Given the description of an element on the screen output the (x, y) to click on. 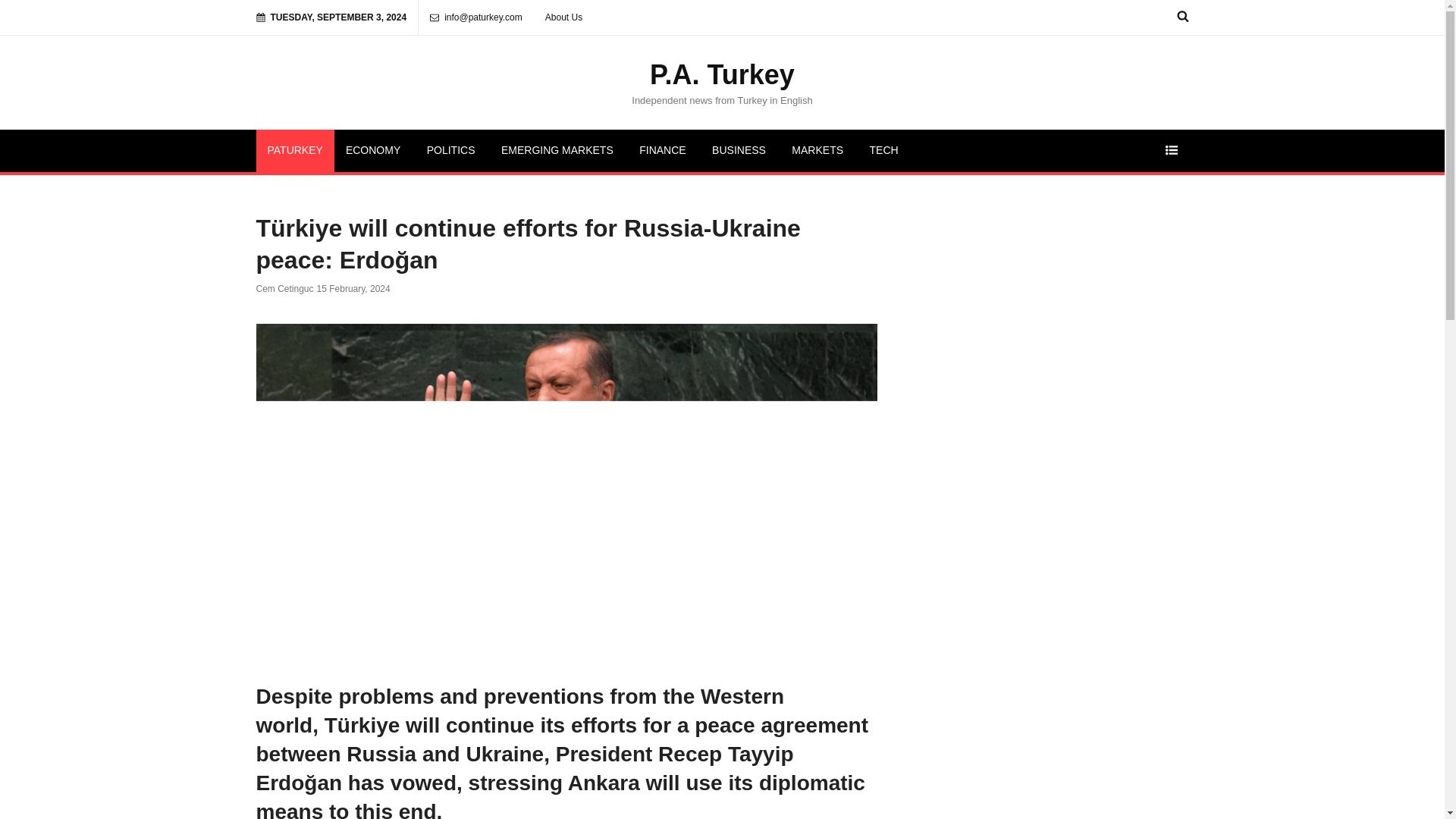
PATURKEY (295, 150)
Cem Cetinguc (285, 288)
P.A. Turkey (721, 74)
EMERGING MARKETS (556, 150)
BUSINESS (738, 150)
15 February, 2024 (353, 288)
About Us (564, 17)
POLITICS (450, 150)
ECONOMY (373, 150)
TECH (884, 150)
